Given the description of an element on the screen output the (x, y) to click on. 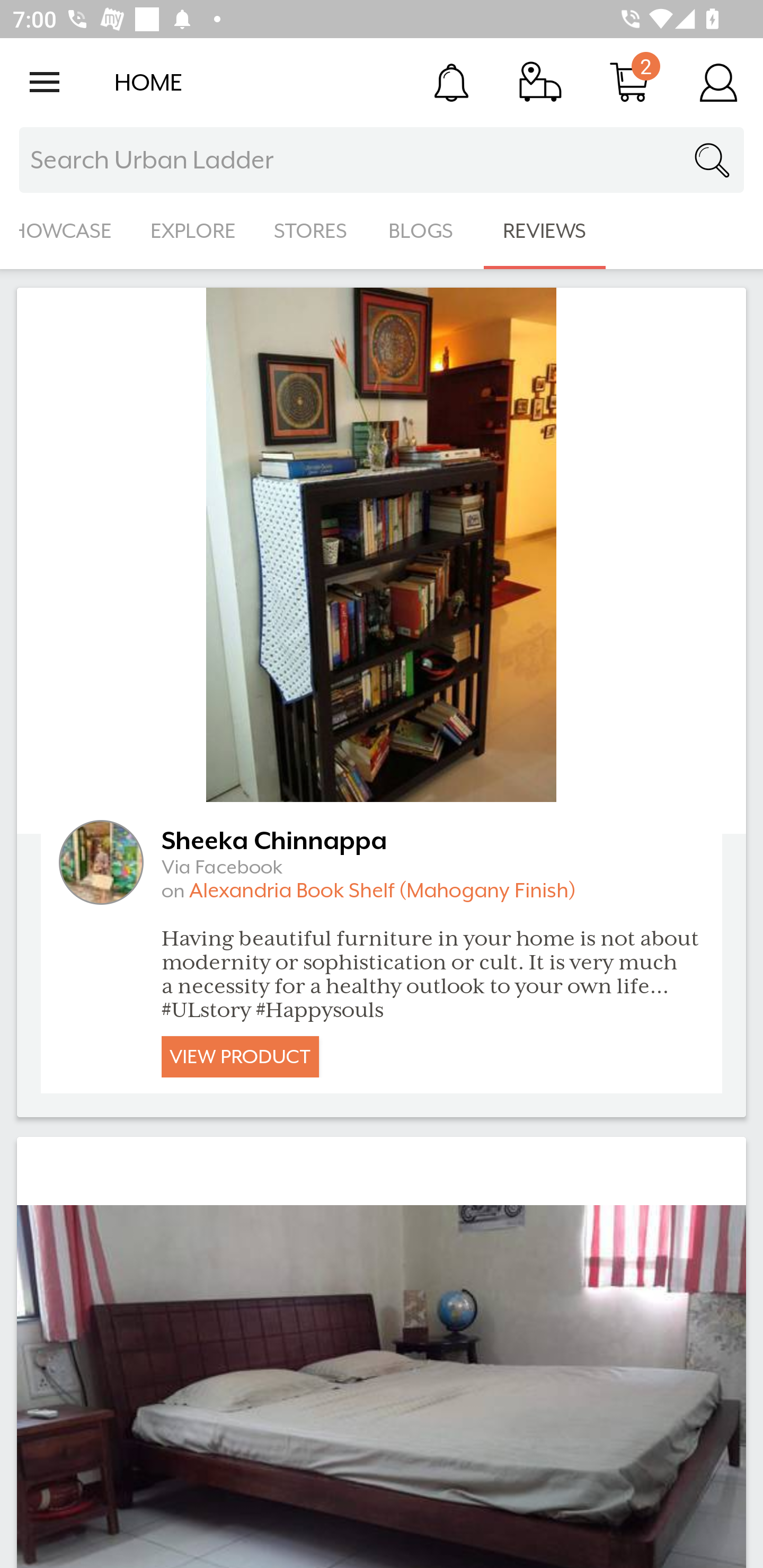
Open navigation drawer (44, 82)
Notification (450, 81)
Track Order (540, 81)
Cart (629, 81)
Account Details (718, 81)
Search Urban Ladder  (381, 159)
SHOWCASE (65, 230)
EXPLORE (192, 230)
STORES (311, 230)
BLOGS (426, 230)
REVIEWS (544, 230)
VIEW PRODUCT (239, 1056)
